Given the description of an element on the screen output the (x, y) to click on. 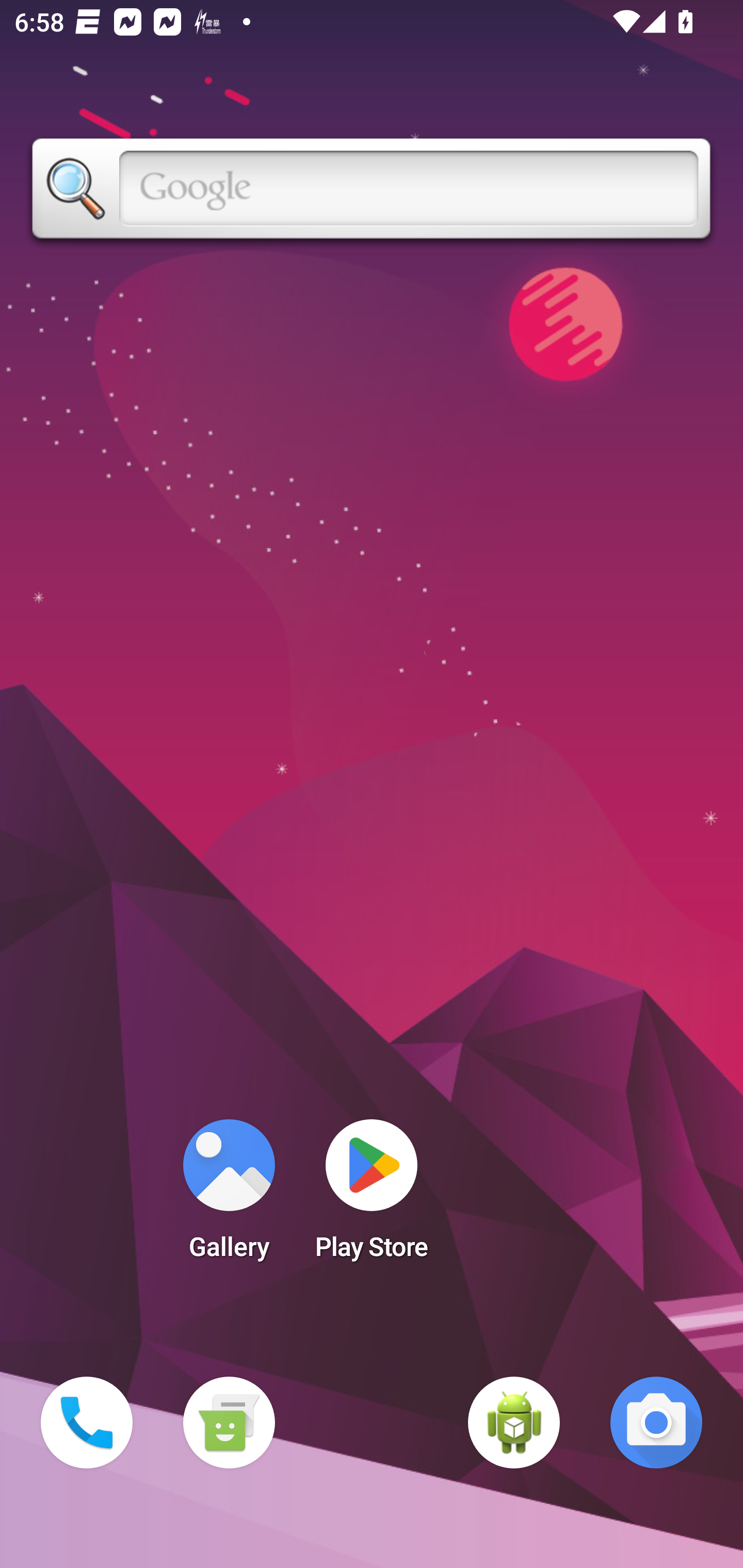
Gallery (228, 1195)
Play Store (371, 1195)
Phone (86, 1422)
Messaging (228, 1422)
WebView Browser Tester (513, 1422)
Camera (656, 1422)
